Given the description of an element on the screen output the (x, y) to click on. 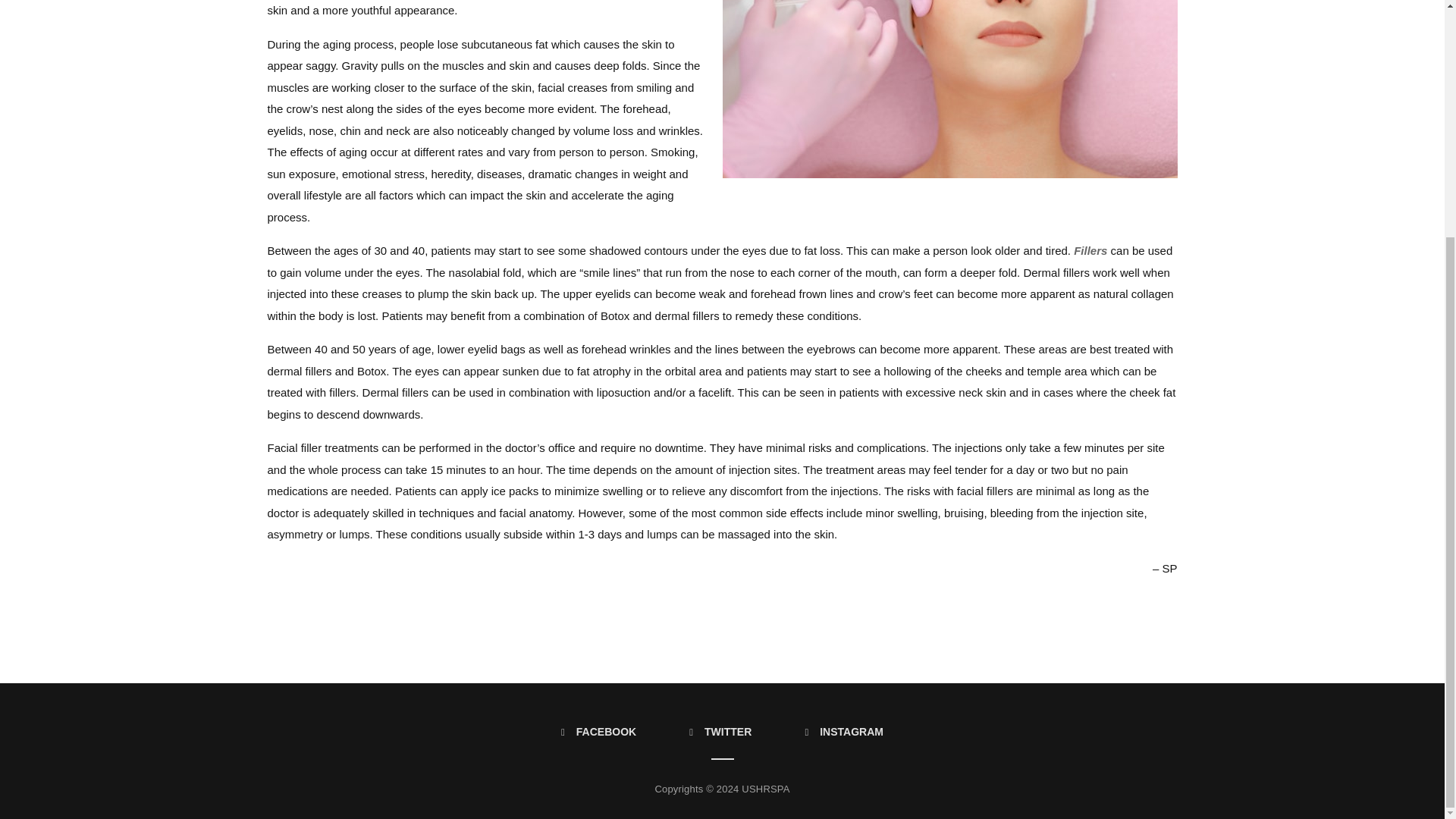
TWITTER (719, 731)
FACEBOOK (598, 731)
Fillers (1090, 250)
INSTAGRAM (843, 731)
